Given the description of an element on the screen output the (x, y) to click on. 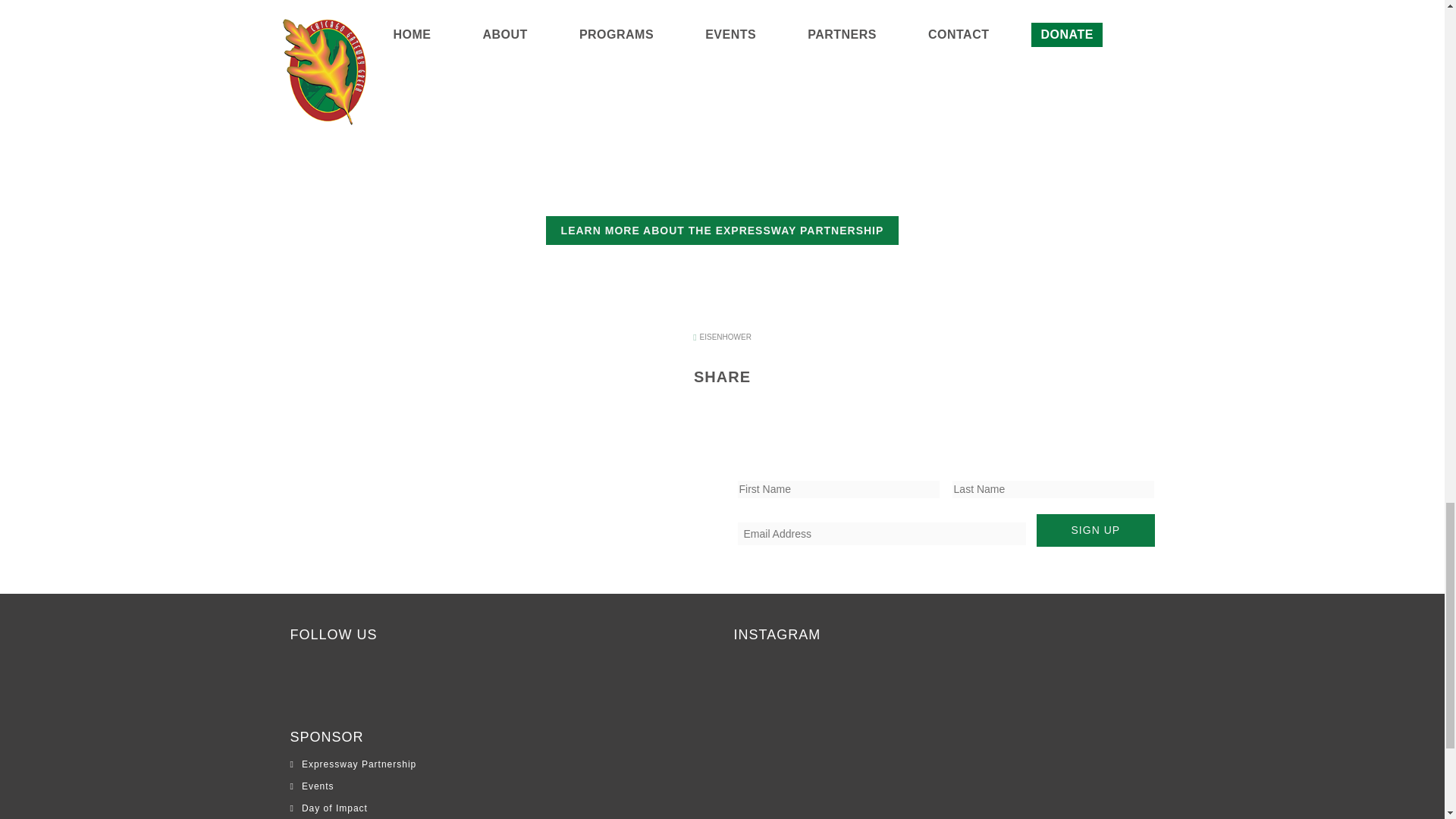
LEARN MORE ABOUT THE EXPRESSWAY PARTNERSHIP (722, 230)
SIGN UP (1095, 530)
EISENHOWER (722, 336)
